Given the description of an element on the screen output the (x, y) to click on. 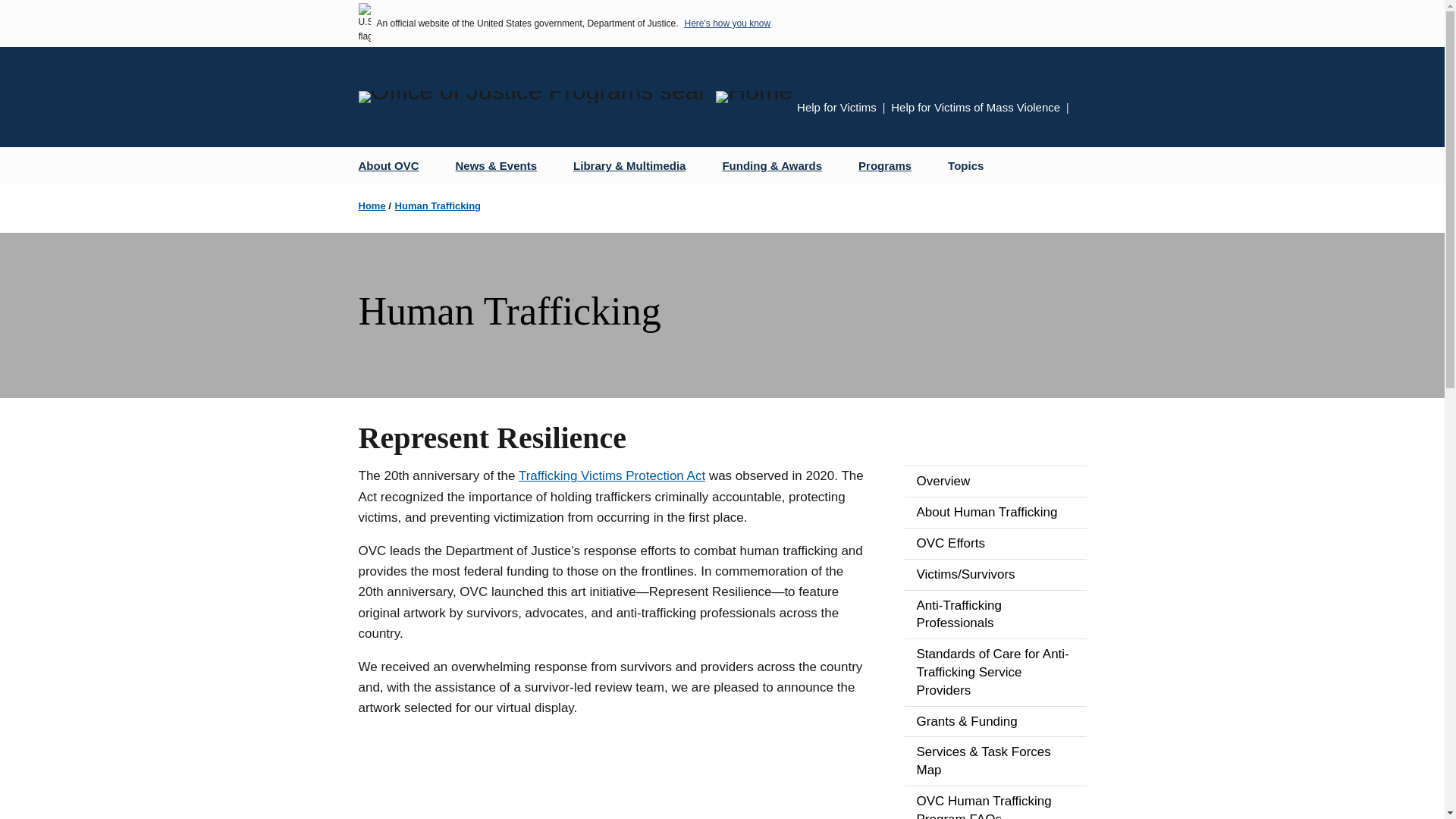
Human Trafficking (437, 205)
Programs (890, 165)
Help for Victims (836, 107)
Here's how you know (727, 23)
About OVC (394, 165)
About Human Trafficking (995, 512)
Home (371, 205)
OVC Efforts (995, 543)
Trafficking Victims Protection Act (611, 475)
Anti-Trafficking Professionals (995, 614)
